Given the description of an element on the screen output the (x, y) to click on. 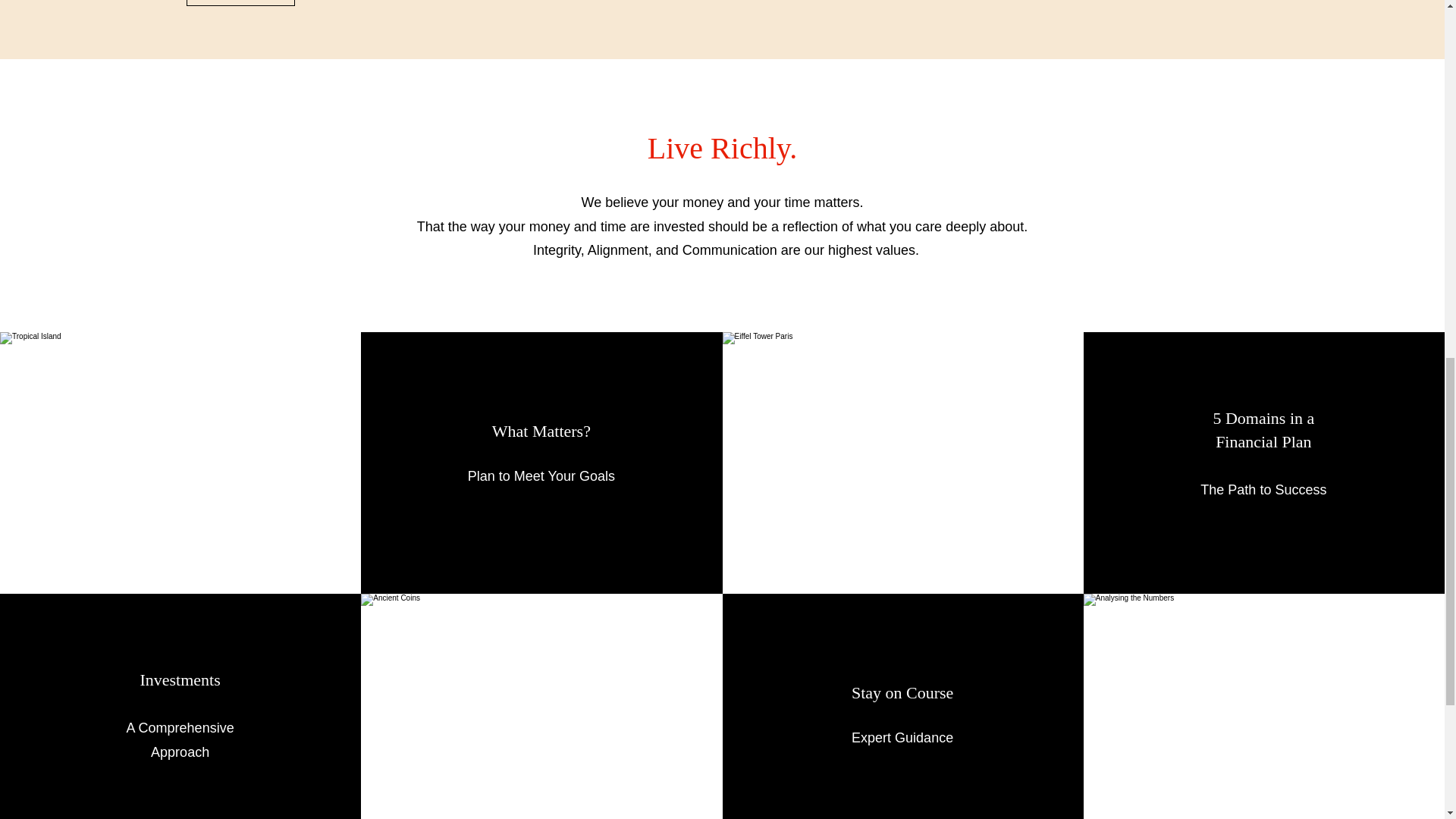
More About Mary (240, 2)
